Given the description of an element on the screen output the (x, y) to click on. 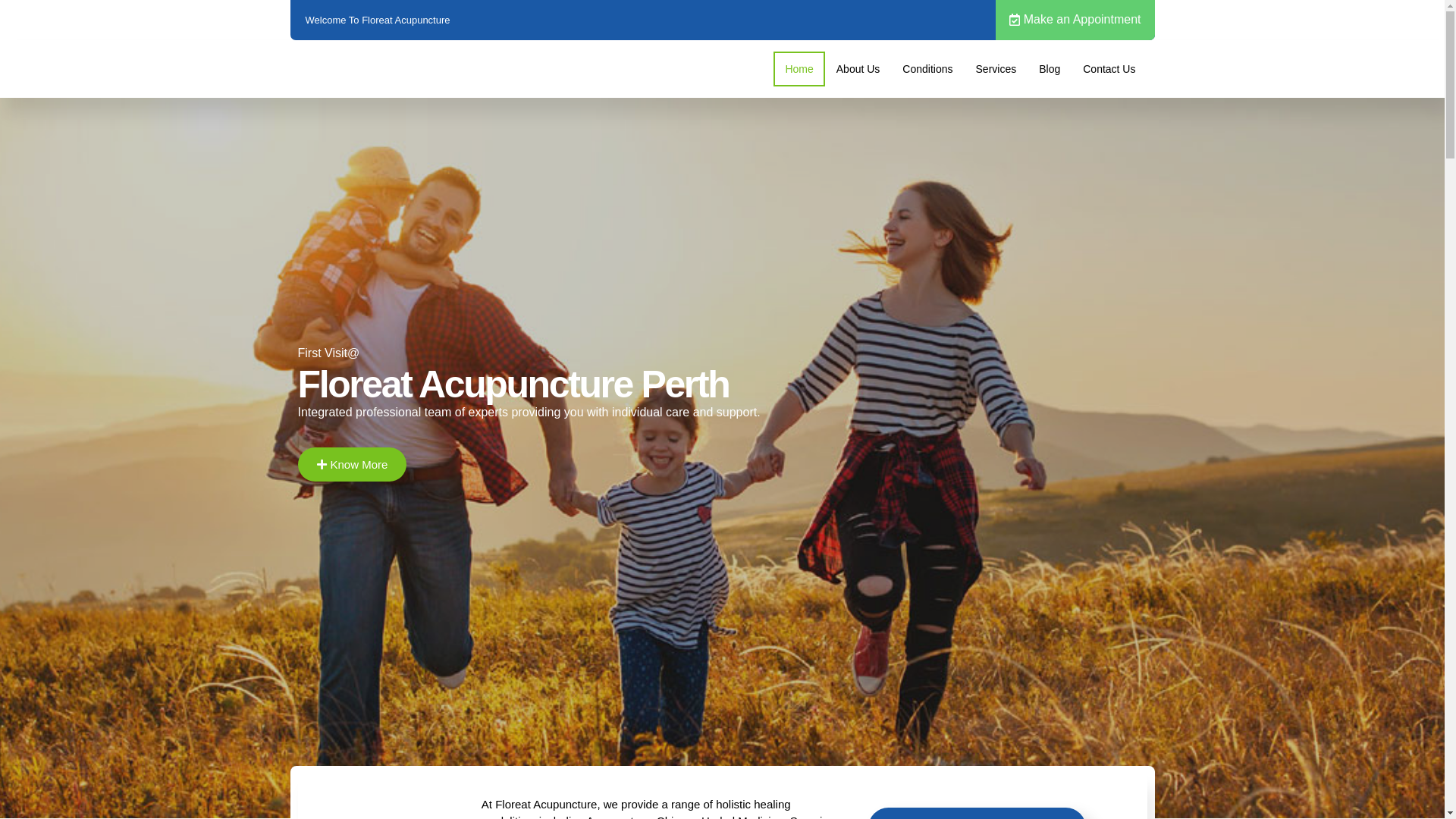
Make an Appointment Element type: text (1074, 20)
Know More Element type: text (351, 464)
About Us Element type: text (858, 68)
Services Element type: text (996, 68)
Conditions Element type: text (927, 68)
Contact Us Element type: text (1108, 68)
Blog Element type: text (1049, 68)
Home Element type: text (798, 68)
